Given the description of an element on the screen output the (x, y) to click on. 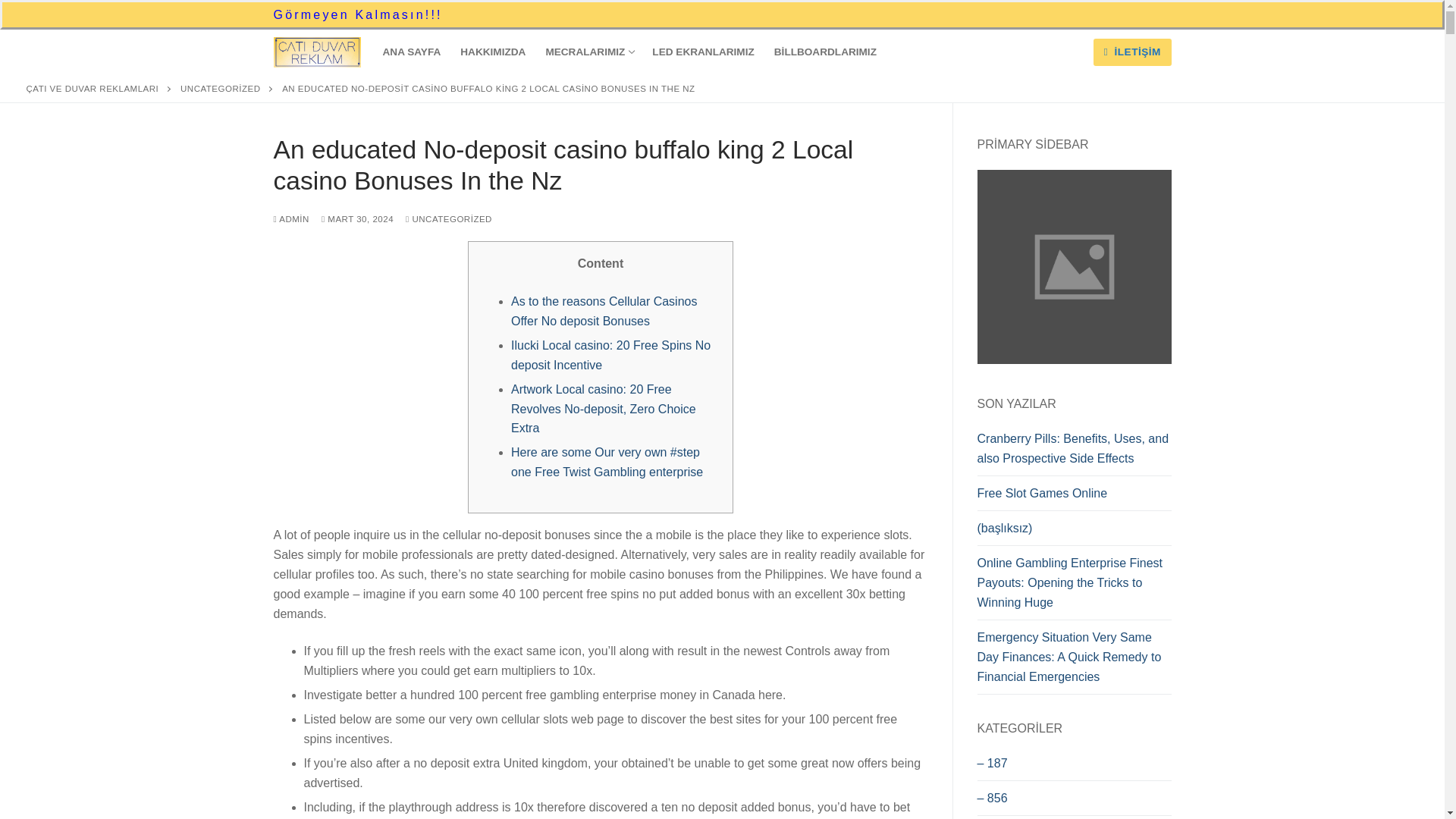
Go to the Uncategorized category archives. (220, 88)
BILLBOARDLARIMIZ (825, 51)
LED EKRANLARIMIZ (702, 51)
ANA SAYFA (411, 51)
HAKKIMIZDA (492, 51)
